Given the description of an element on the screen output the (x, y) to click on. 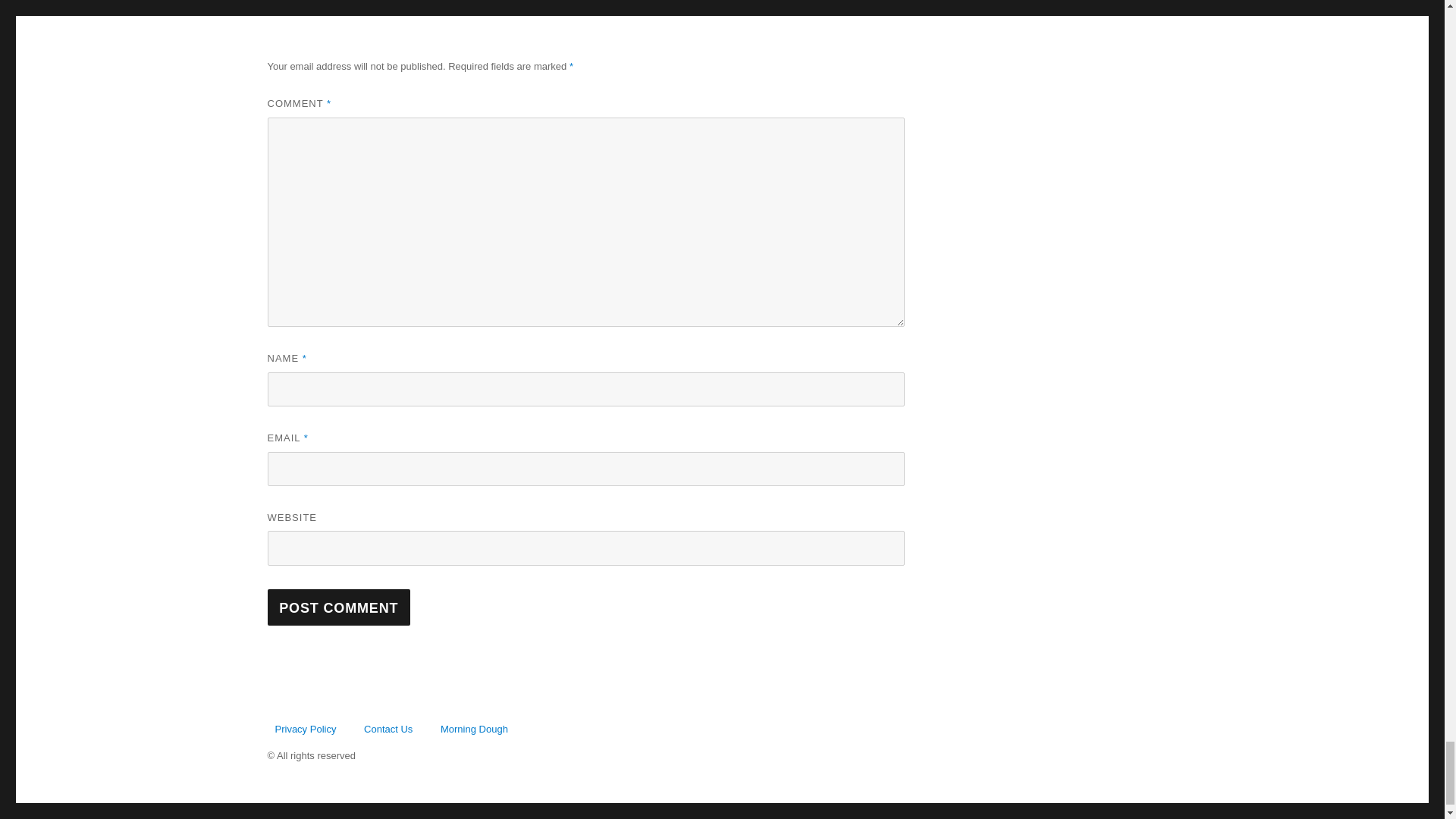
Post Comment (338, 606)
Post Comment (338, 606)
